Given the description of an element on the screen output the (x, y) to click on. 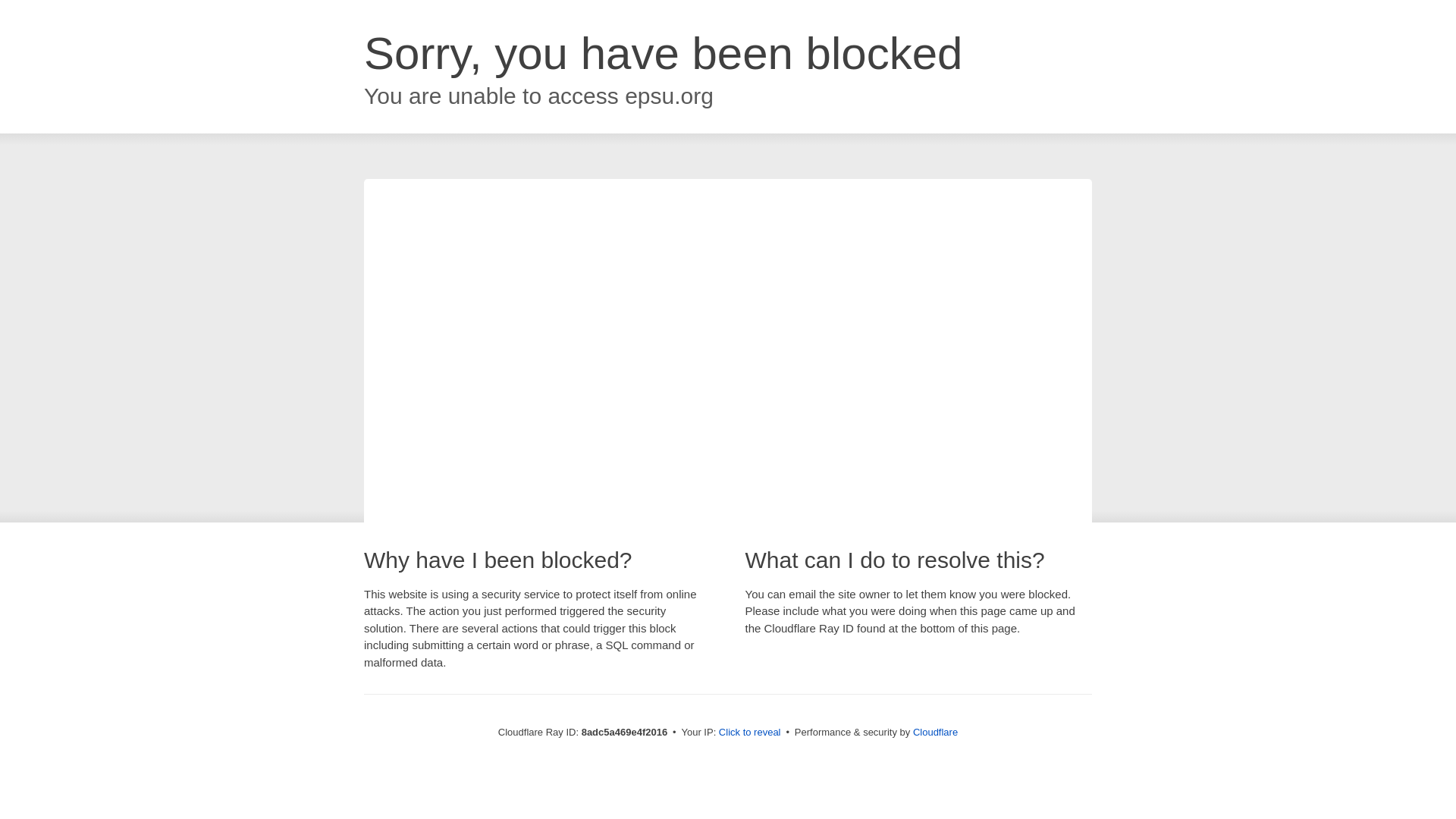
Click to reveal (749, 732)
Cloudflare (935, 731)
